Given the description of an element on the screen output the (x, y) to click on. 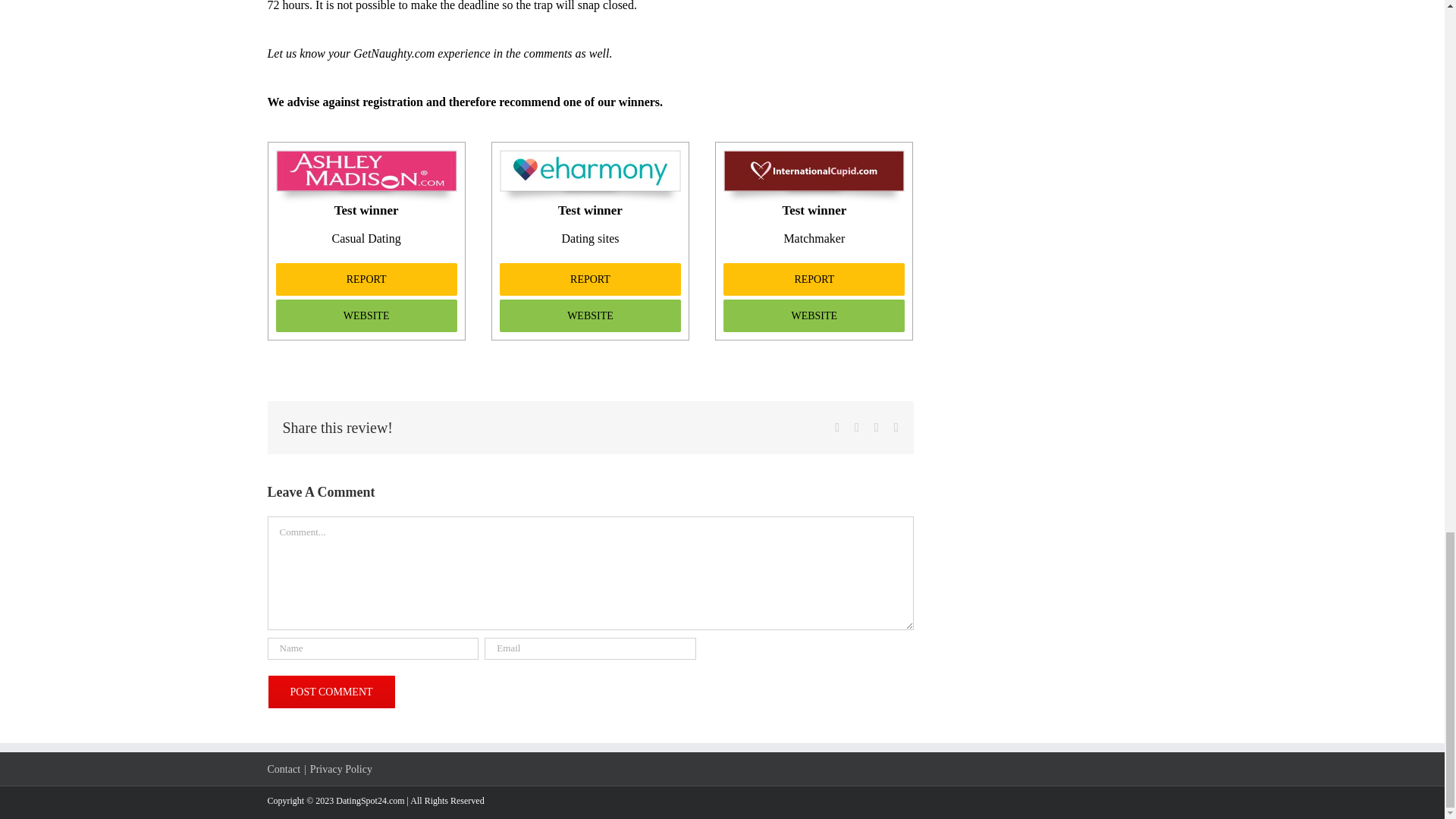
Website (366, 315)
Logo Ashley Madison - Casual Dating (365, 155)
Logo eharmony - Dating sites (589, 155)
Report (366, 278)
Post Comment (330, 691)
